Given the description of an element on the screen output the (x, y) to click on. 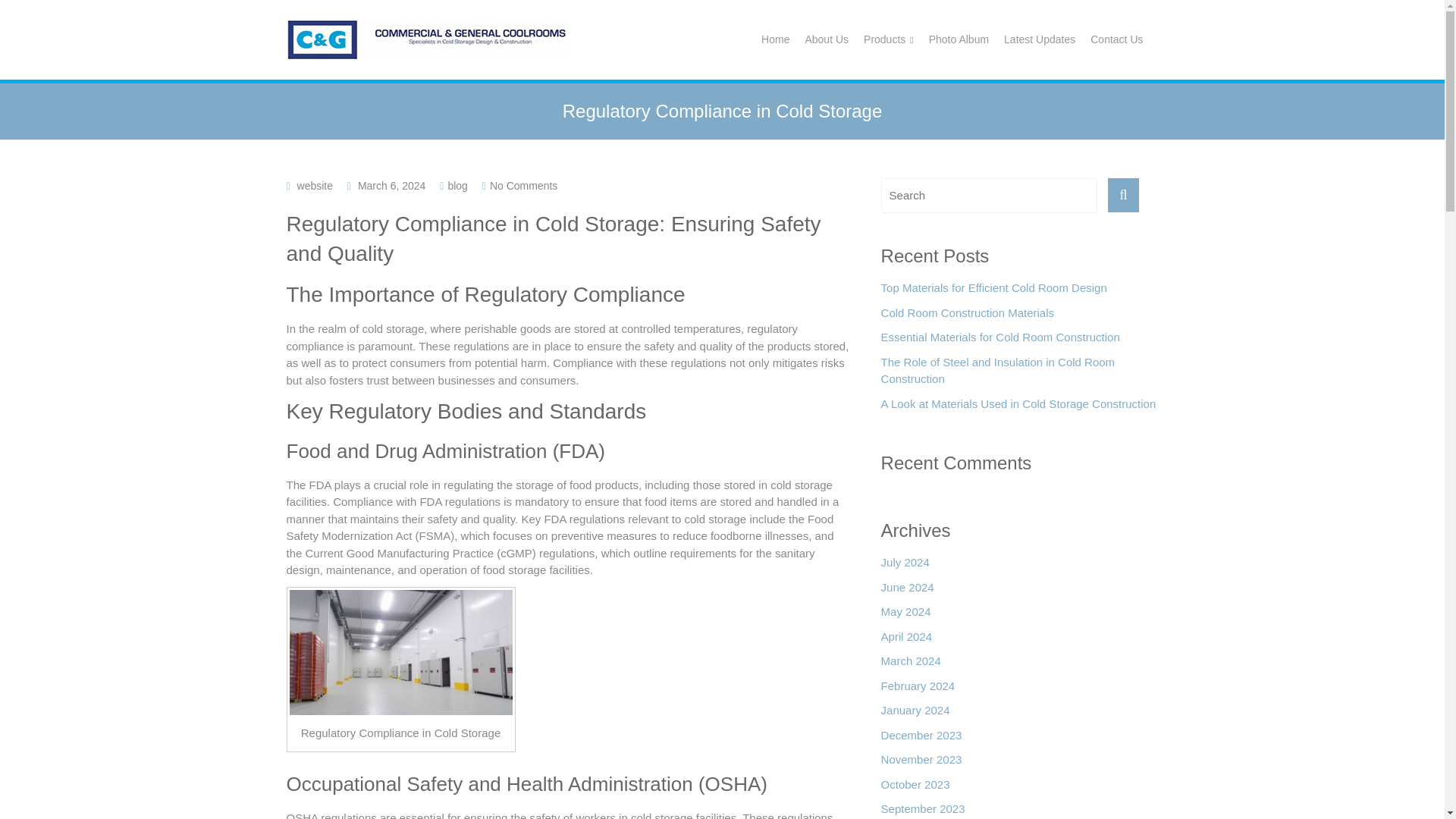
November 2023 (921, 763)
May 2024 (905, 615)
About Us (826, 38)
A Look at Materials Used in Cold Storage Construction (1018, 407)
July 2024 (905, 566)
February 2024 (917, 690)
March 2024 (910, 665)
Top Materials for Efficient Cold Room Design (993, 292)
April 2024 (906, 640)
website (315, 185)
Regulatory Compliance in Cold Storage (400, 651)
March 6, 2024 (392, 185)
Photo Album (958, 38)
Contact Us (1116, 38)
blog (456, 185)
